Given the description of an element on the screen output the (x, y) to click on. 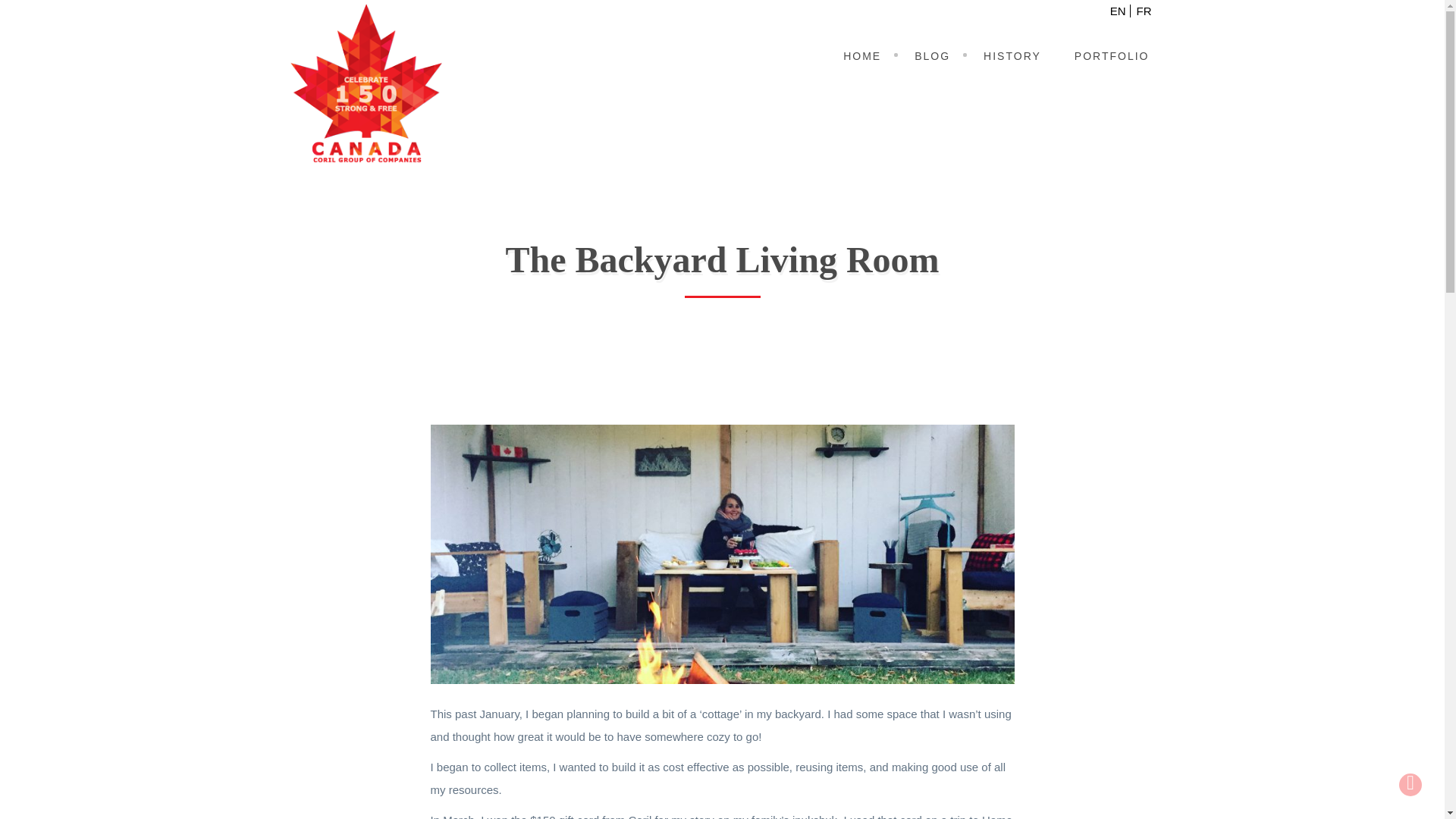
EN (1120, 10)
BLOG (932, 56)
HISTORY (1011, 56)
Blog (932, 56)
HOME (861, 56)
PORTFOLIO (1112, 56)
FR (1143, 10)
Home (861, 56)
Portfolio (1112, 56)
History (1011, 56)
